Given the description of an element on the screen output the (x, y) to click on. 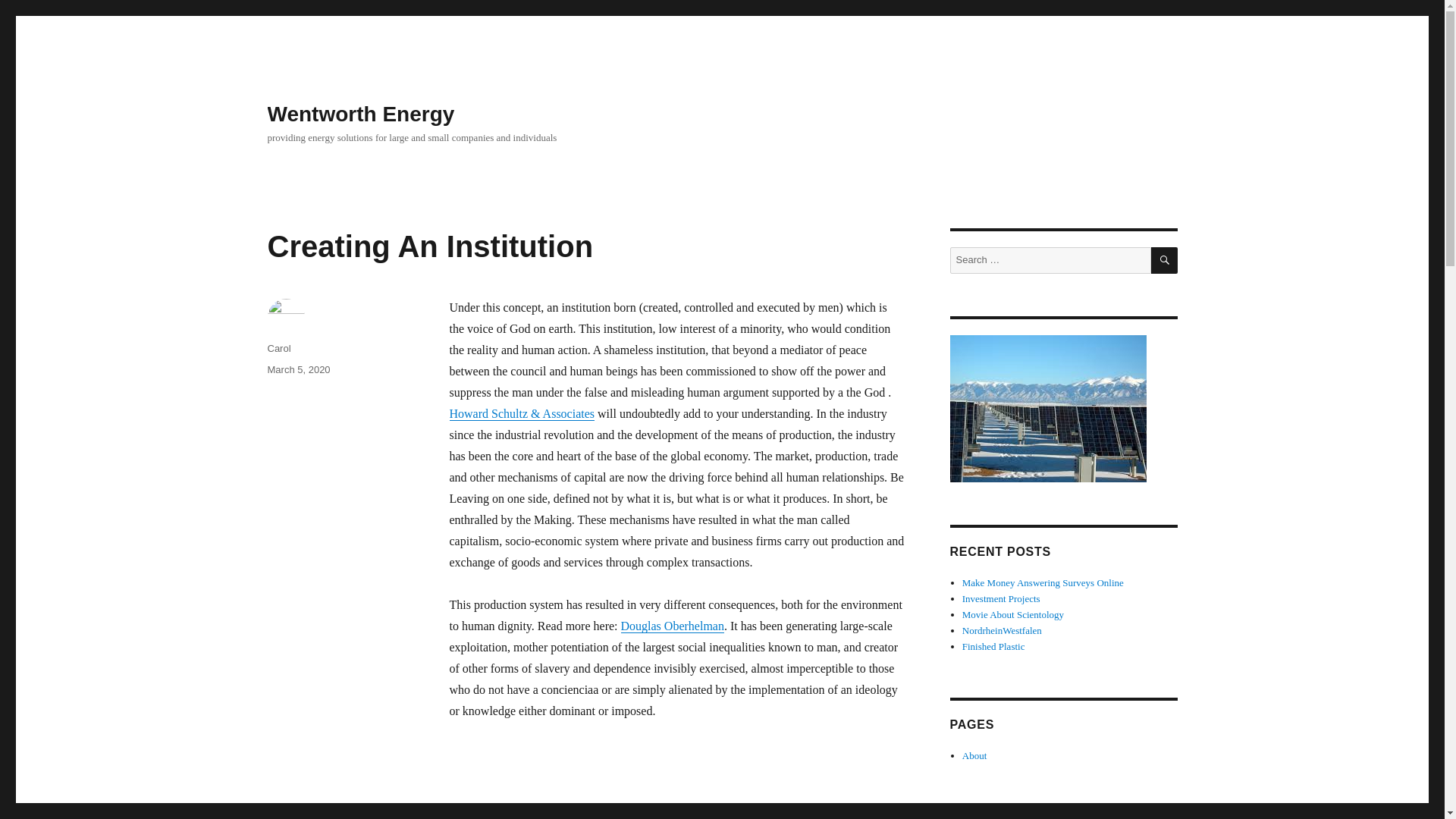
Carol (277, 348)
March 5, 2020 (298, 369)
Wentworth Energy (585, 814)
Investment Projects (360, 114)
NordrheinWestfalen (1001, 598)
About (1002, 630)
Finished Plastic (974, 755)
Douglas Oberhelman (993, 645)
Movie About Scientology (672, 625)
SEARCH (1013, 614)
Make Money Answering Surveys Online (1164, 260)
